Given the description of an element on the screen output the (x, y) to click on. 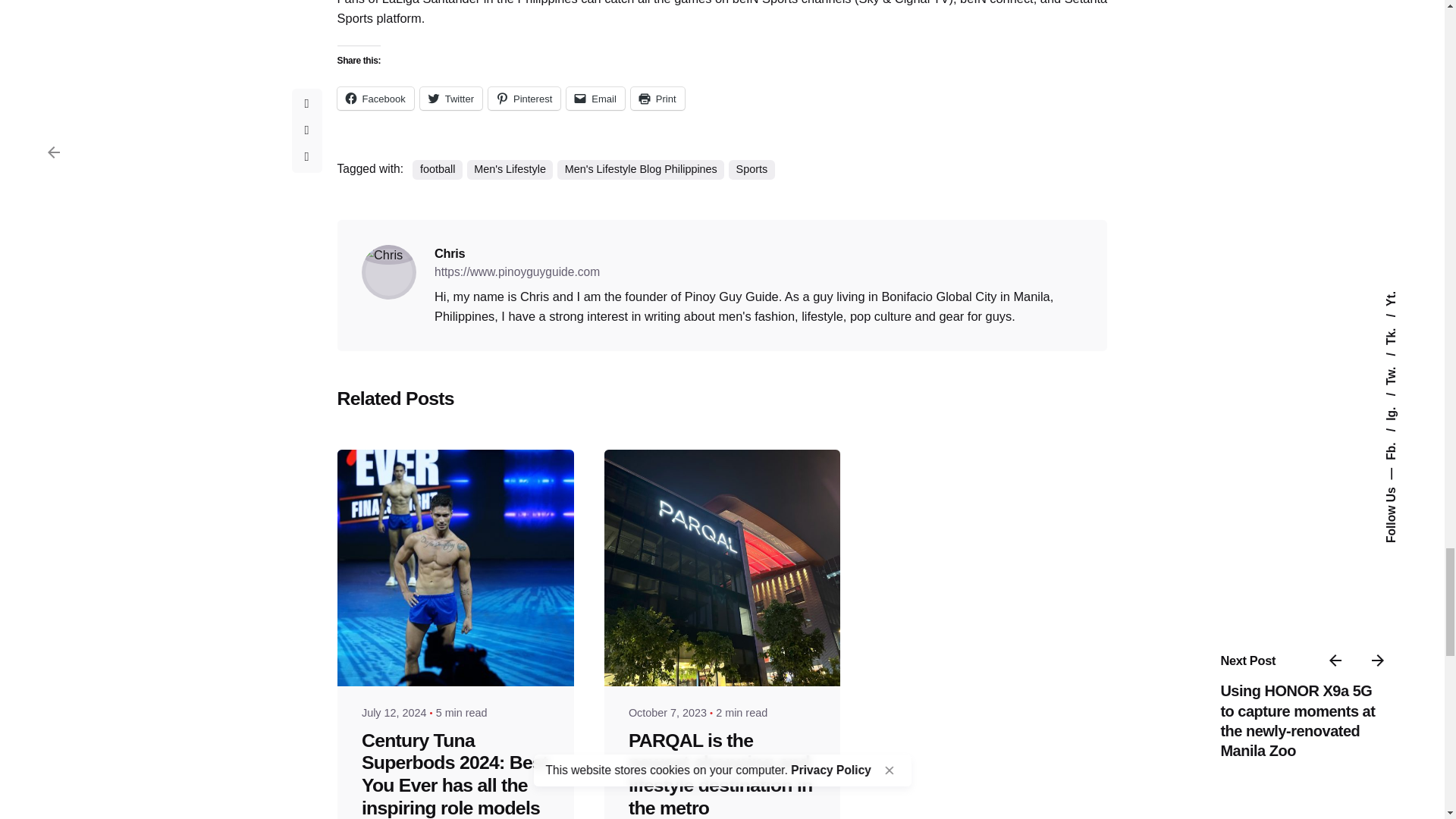
Click to share on Pinterest (523, 97)
Click to print (657, 97)
Click to email a link to a friend (595, 97)
Click to share on Facebook (375, 97)
Click to share on Twitter (450, 97)
